Given the description of an element on the screen output the (x, y) to click on. 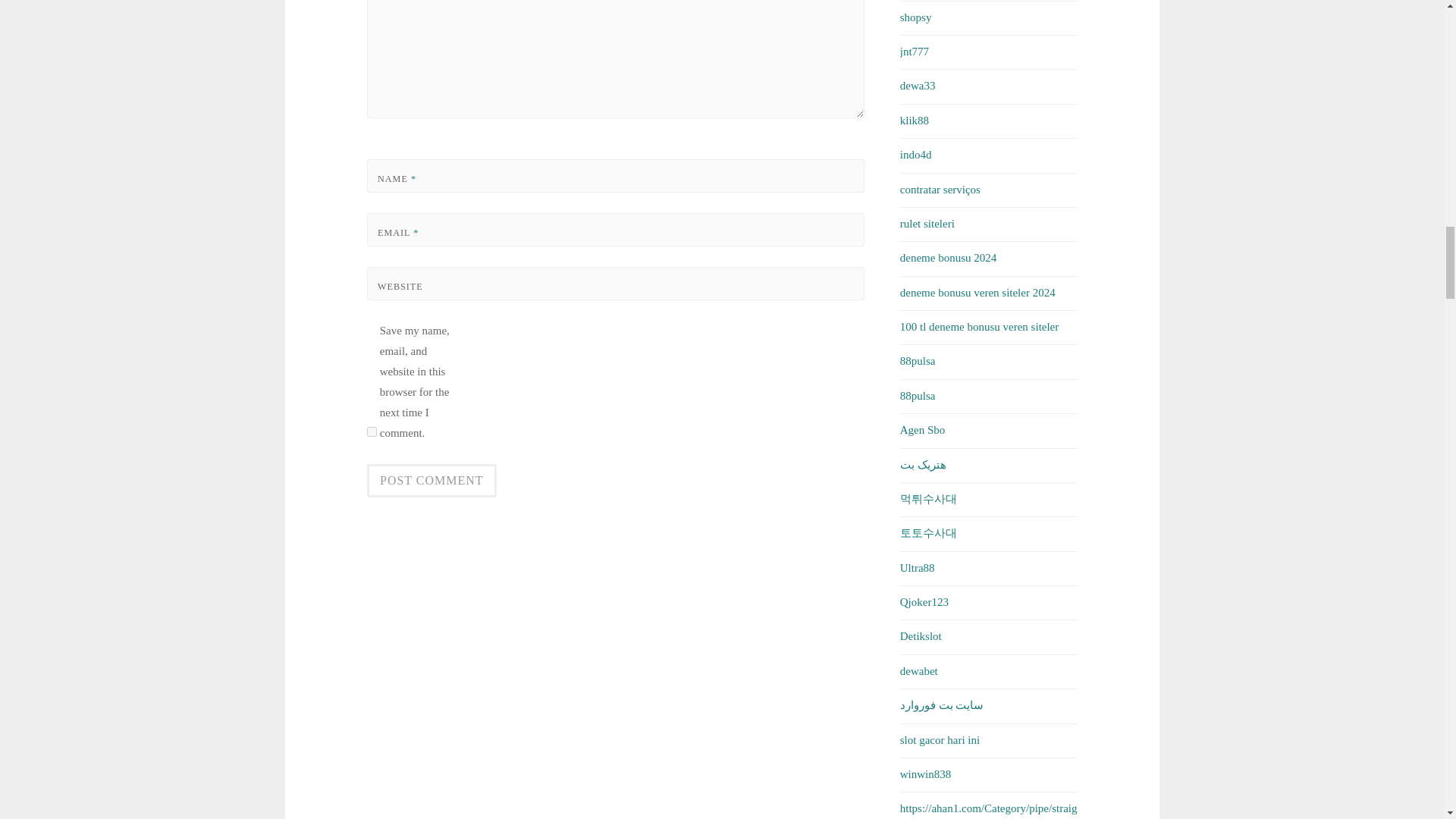
yes (371, 431)
Post Comment (431, 480)
Post Comment (431, 480)
